Given the description of an element on the screen output the (x, y) to click on. 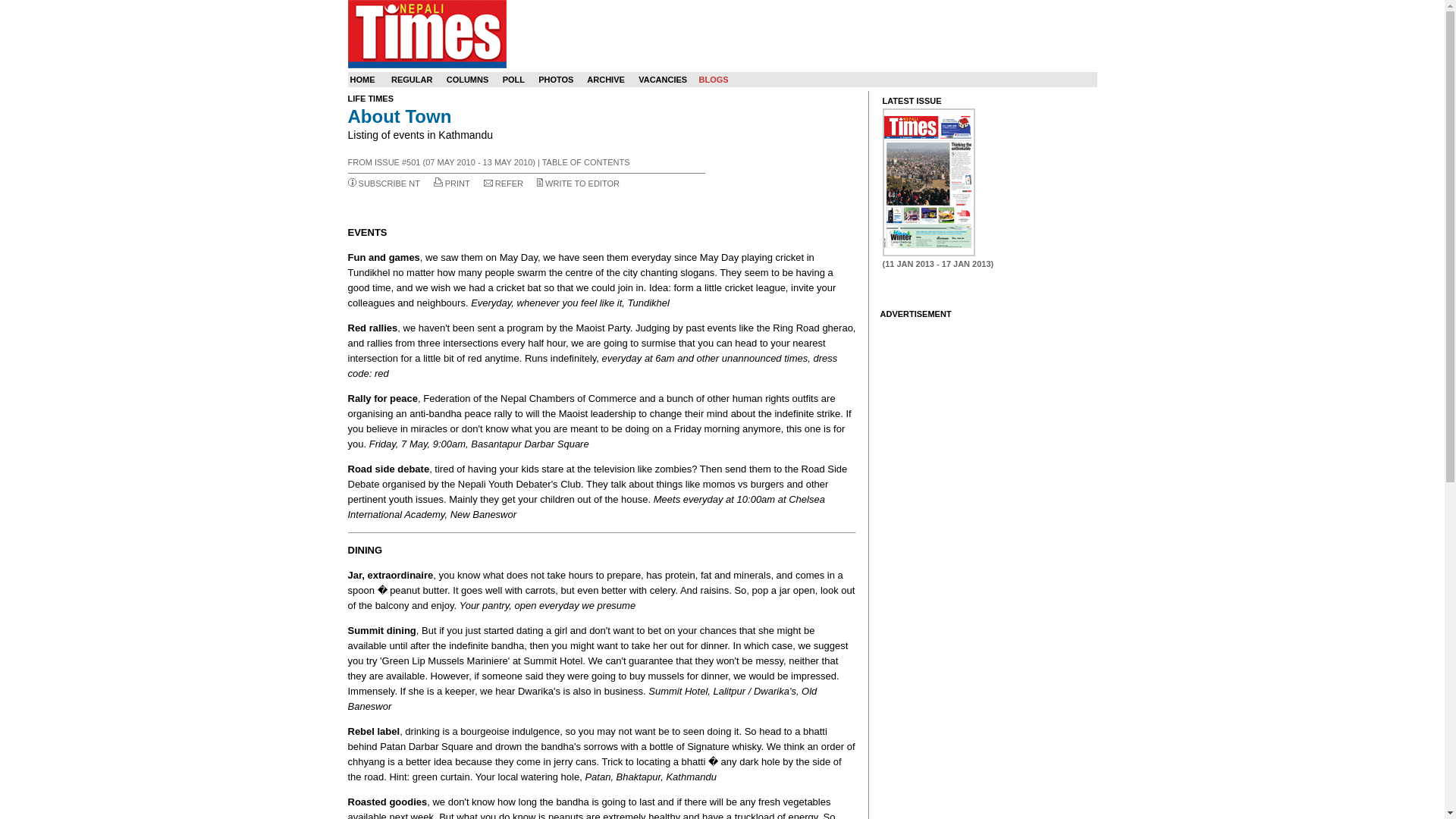
COLUMNS (467, 79)
BLOGS (713, 79)
VACANCIES (663, 79)
PHOTOS (555, 79)
HOME (362, 79)
WRITE TO EDITOR (582, 183)
REGULAR (411, 79)
PRINT (458, 183)
ARCHIVE (605, 79)
TABLE OF CONTENTS (585, 162)
REFER (508, 183)
638 (928, 182)
Nepali Times (426, 33)
SUBSCRIBE NT (389, 183)
POLL (513, 79)
